Given the description of an element on the screen output the (x, y) to click on. 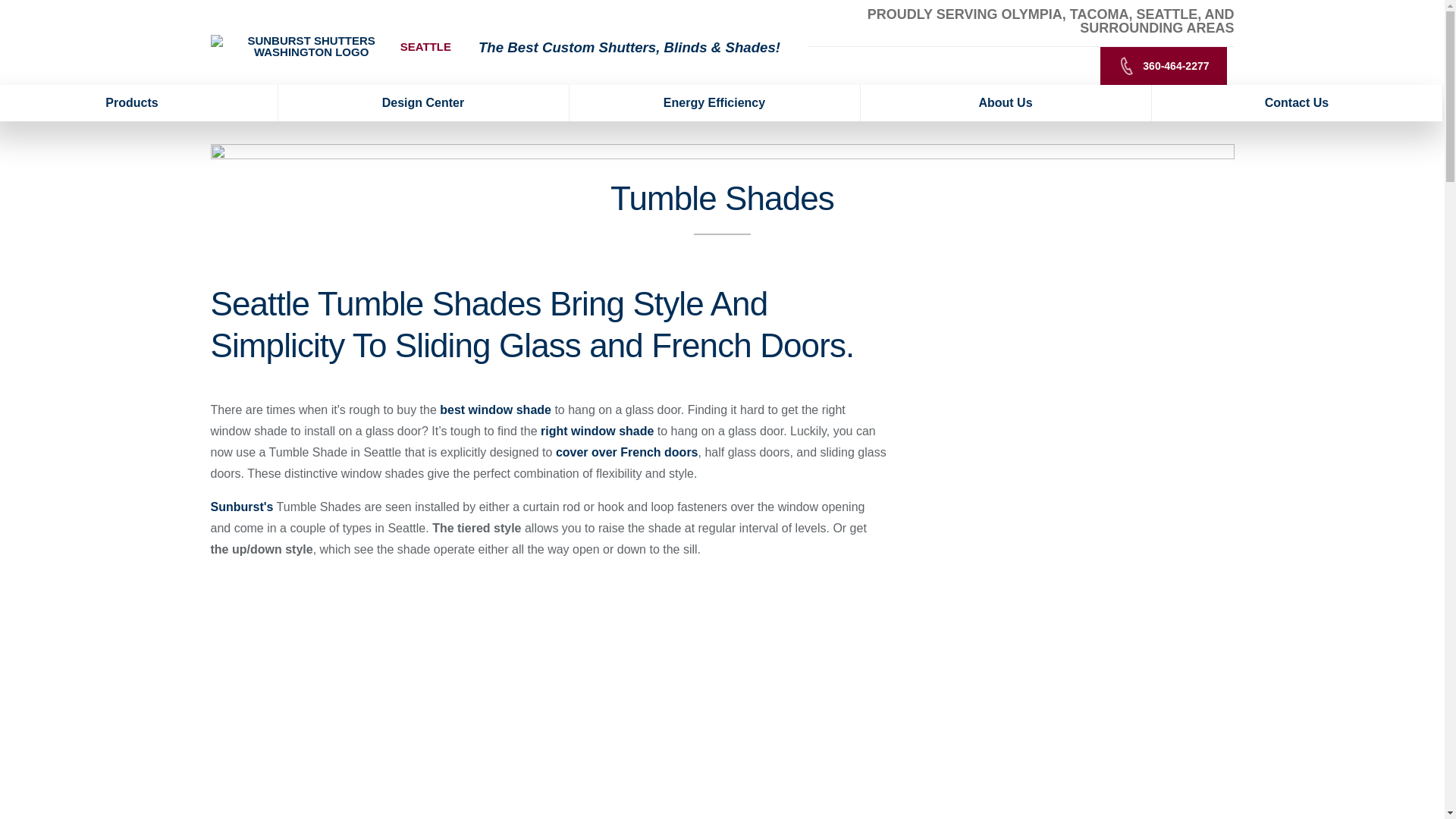
Sunburst Shutters Washington Home (305, 46)
Products (139, 103)
Window shades in Seattle (597, 431)
360-464-2277 (1162, 65)
Design Center (423, 103)
